Given the description of an element on the screen output the (x, y) to click on. 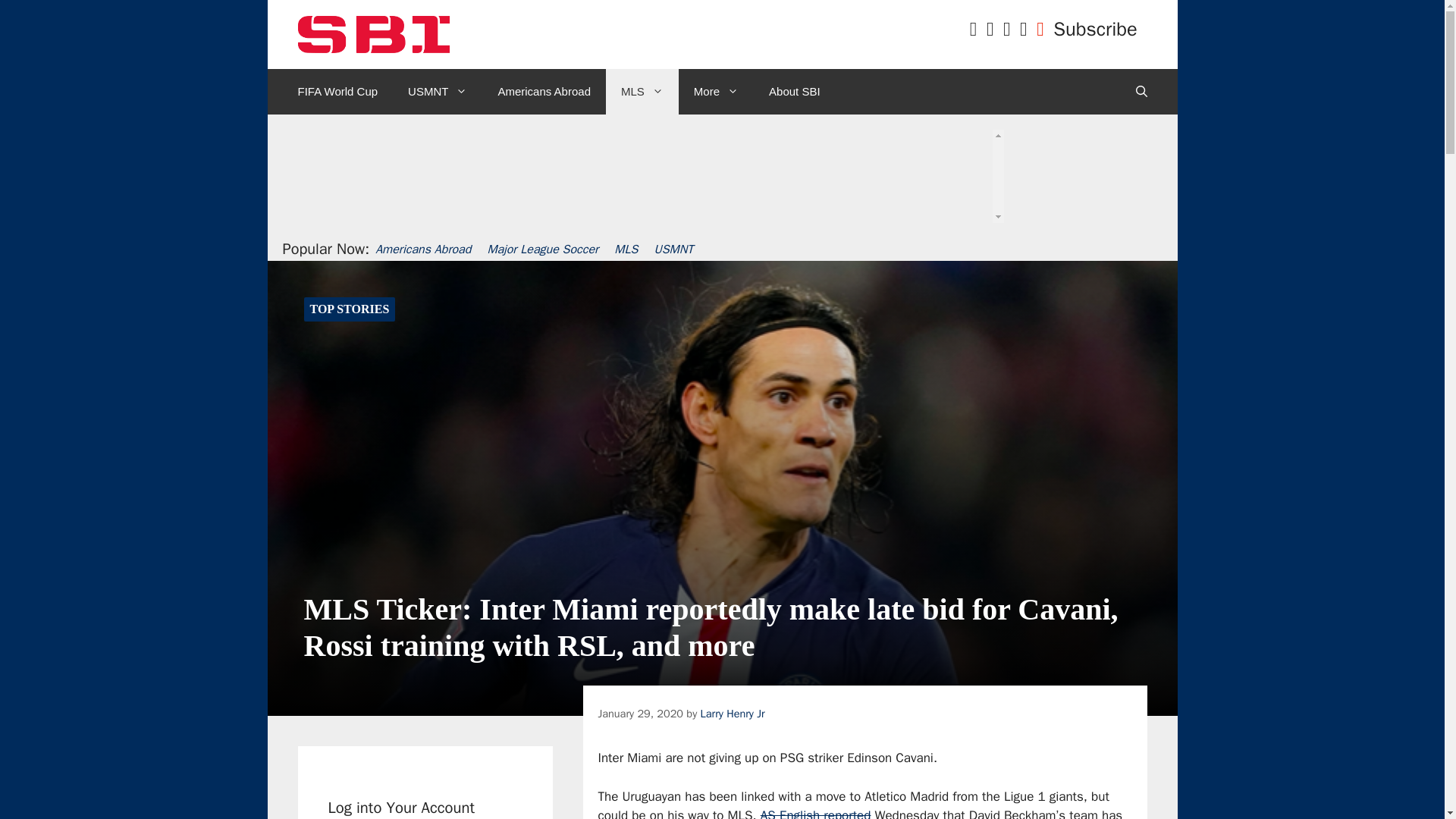
View all posts by Larry Henry Jr (732, 713)
USMNT (437, 91)
Americans Abroad (543, 91)
MLS (641, 91)
FIFA World Cup (337, 91)
Subscribe (1094, 28)
